Given the description of an element on the screen output the (x, y) to click on. 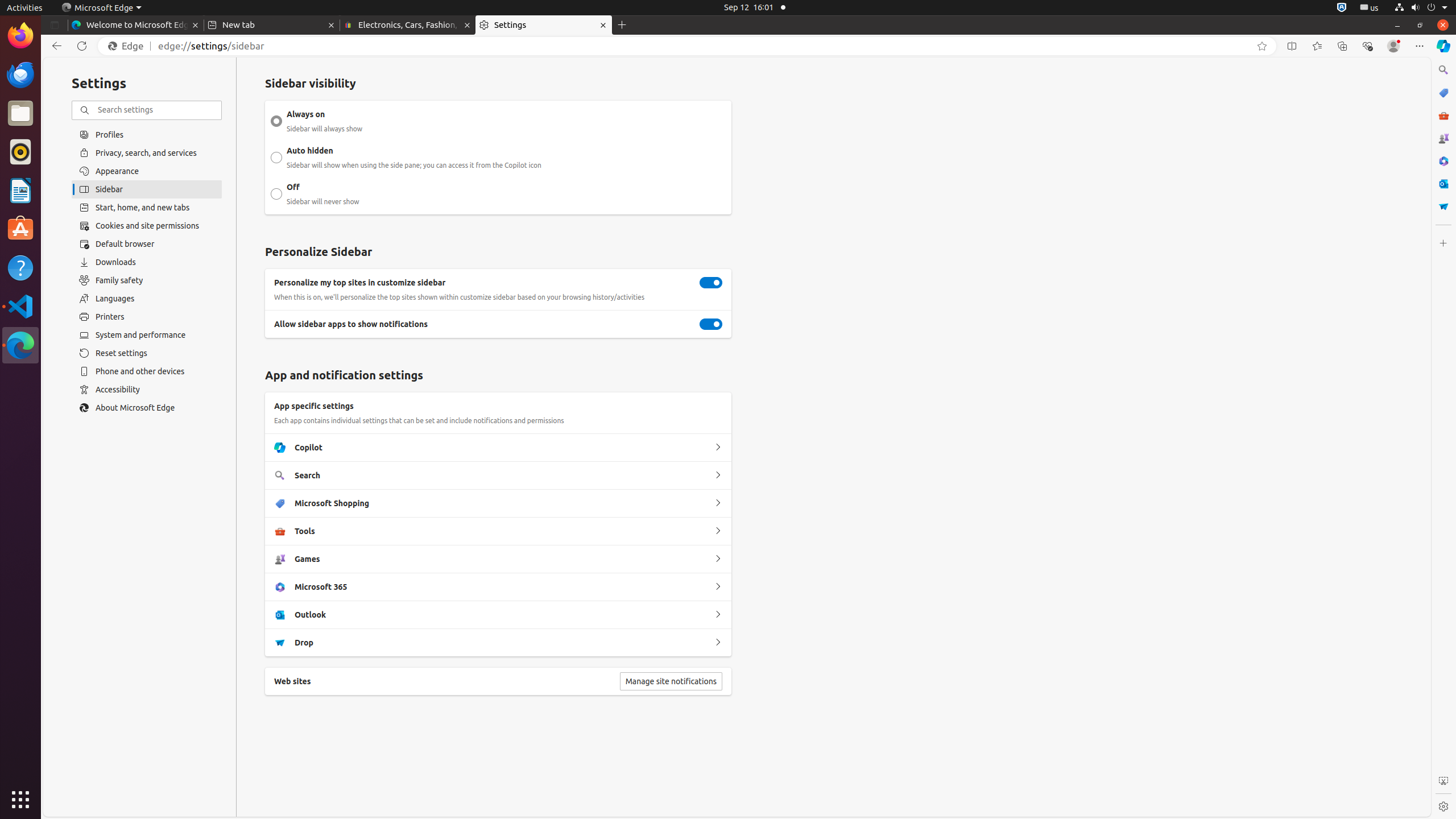
Close tab Element type: push-button (195, 25)
Drop Element type: push-button (717, 642)
Back Element type: push-button (54, 45)
Show Applications Element type: toggle-button (20, 799)
Microsoft Shopping Element type: push-button (717, 503)
